Given the description of an element on the screen output the (x, y) to click on. 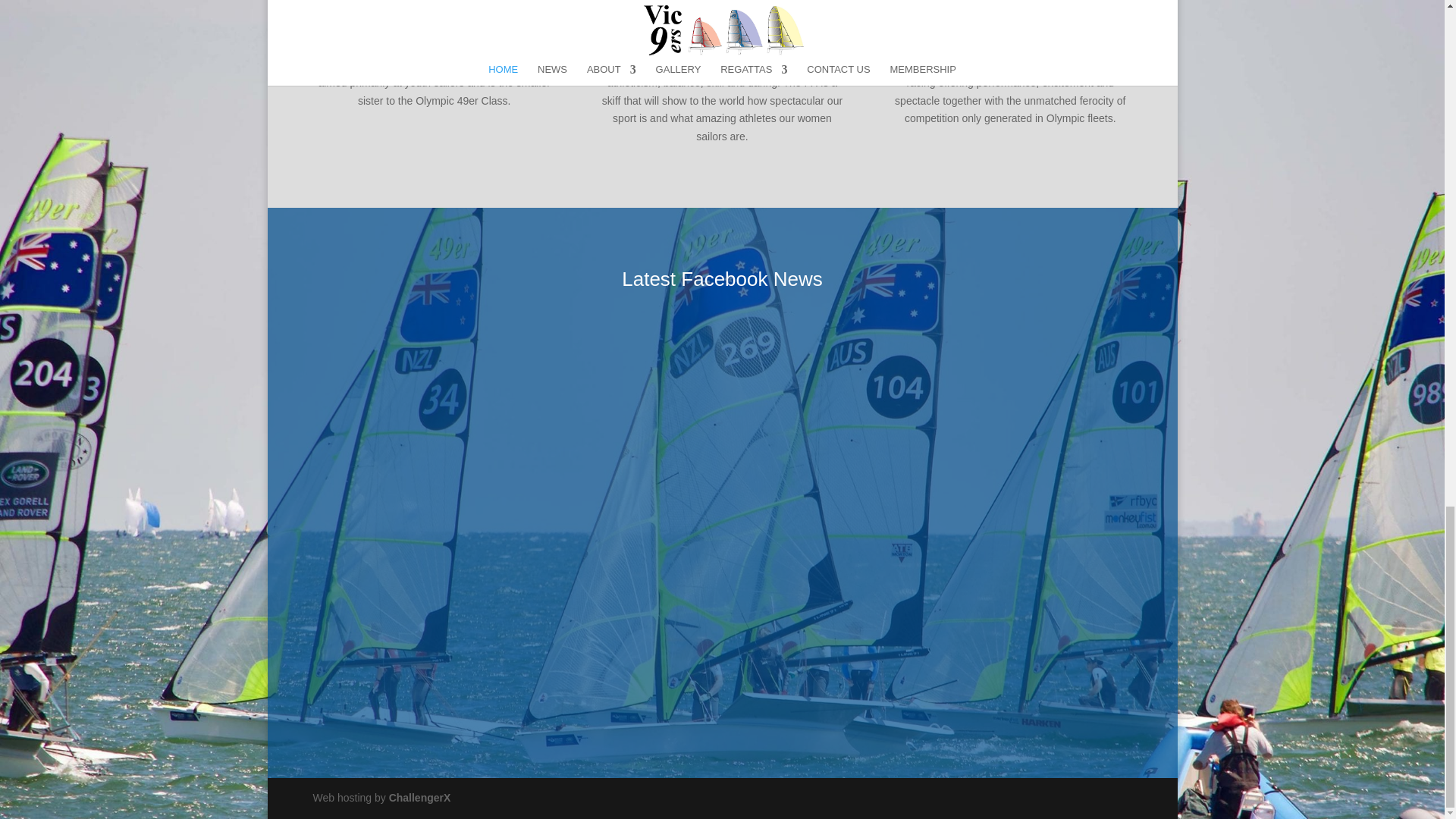
ChallengerX (419, 797)
Likebox Iframe (505, 413)
Likebox Iframe (938, 413)
